Given the description of an element on the screen output the (x, y) to click on. 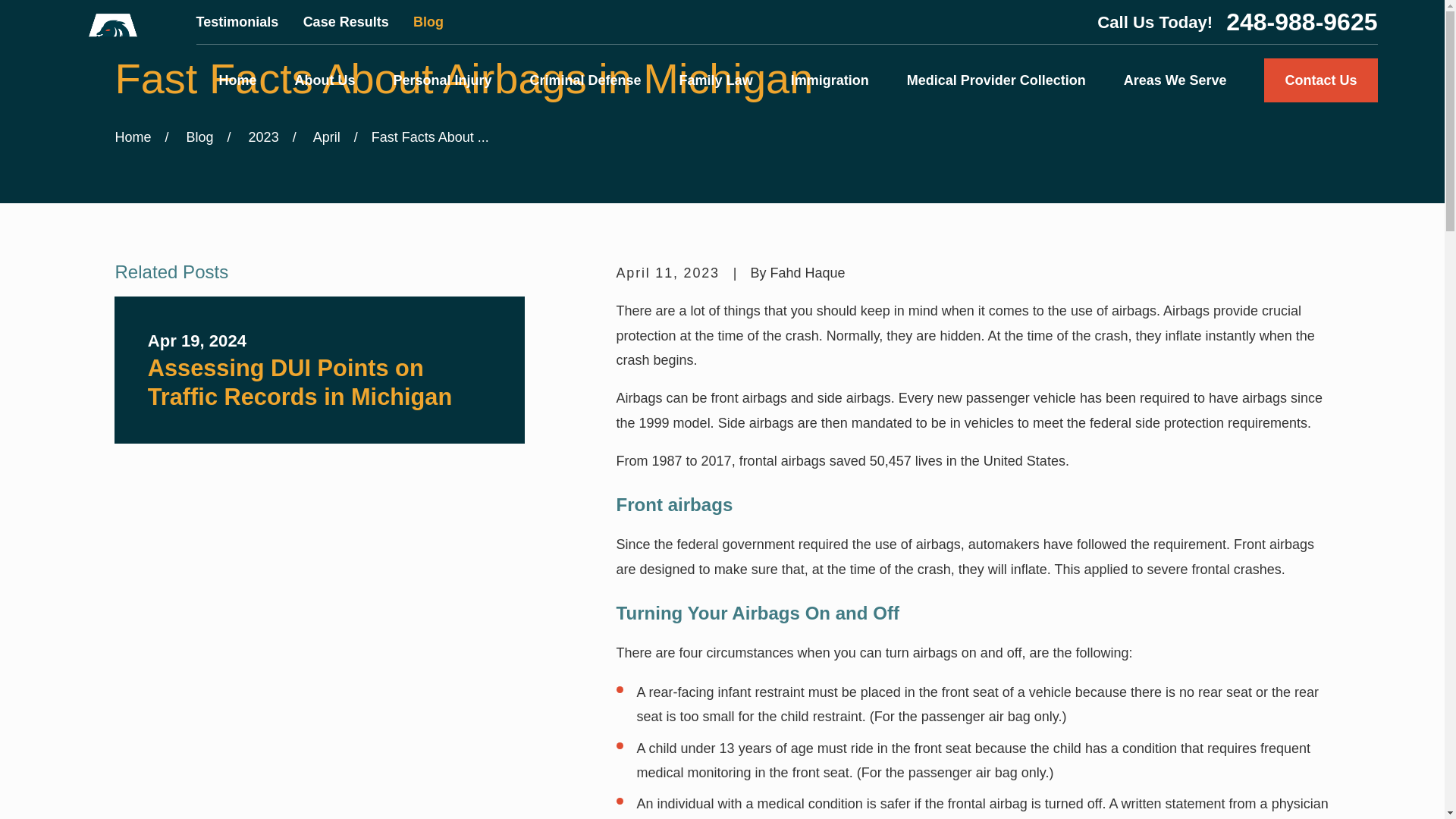
Personal Injury (442, 80)
Go Home (133, 136)
Family Law (715, 80)
About Us (324, 80)
Haque Legal (111, 58)
Home (237, 80)
Criminal Defense (585, 80)
Blog (428, 21)
Home (111, 58)
248-988-9625 (1301, 21)
Case Results (345, 21)
Testimonials (237, 21)
